Given the description of an element on the screen output the (x, y) to click on. 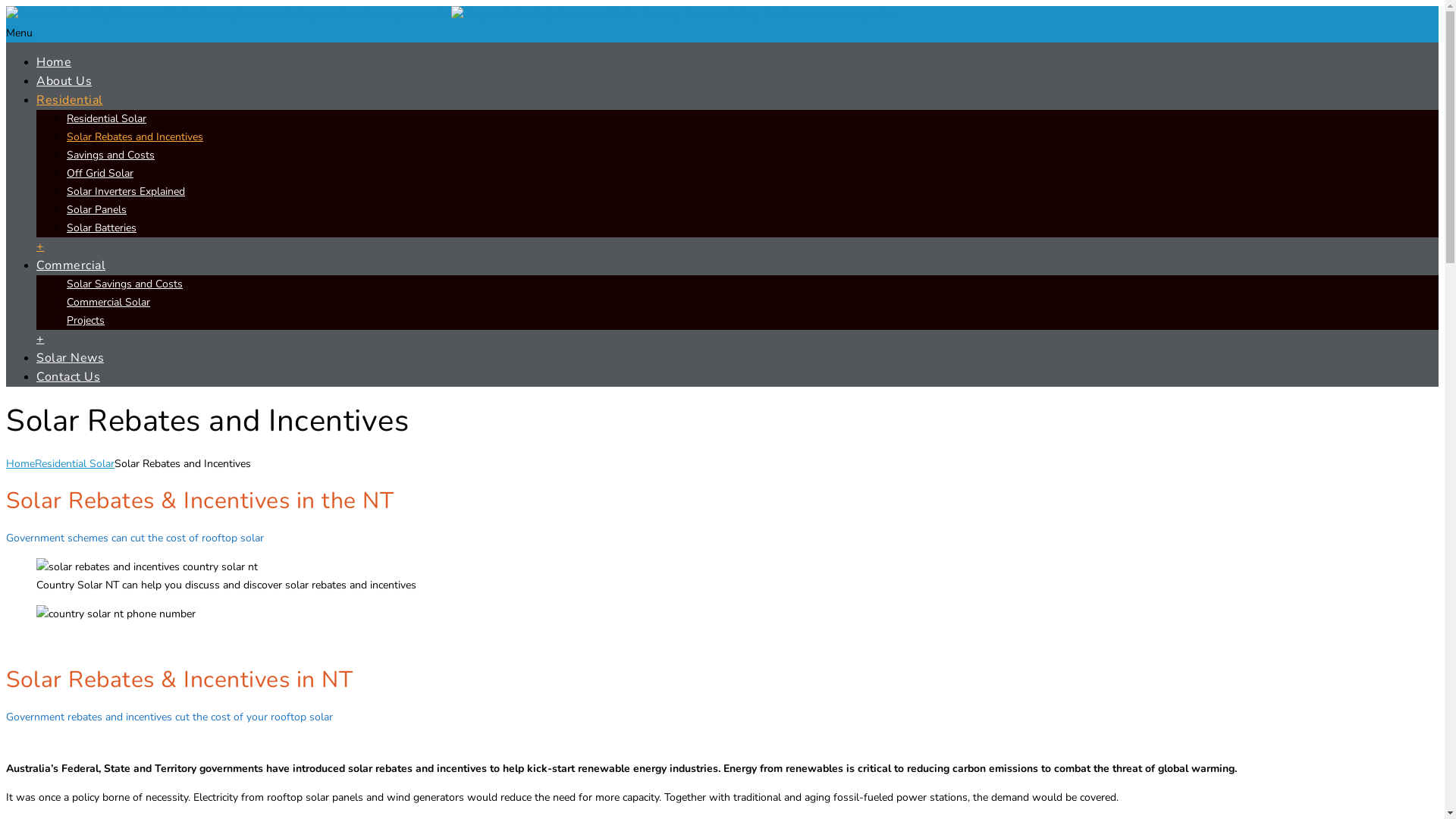
Solar Batteries Element type: text (101, 227)
+ Element type: text (40, 338)
Contact Us Element type: text (68, 376)
Off Grid Solar Element type: text (99, 173)
Home Element type: text (53, 61)
Commercial Element type: text (70, 265)
Residential Solar Element type: text (106, 118)
Solar Panels Element type: text (96, 209)
Solar News Element type: text (69, 357)
Residential Solar Element type: text (74, 463)
Commercial Solar Element type: text (108, 301)
Solar Rebates and Incentives Element type: text (134, 136)
Projects Element type: text (85, 320)
About Us Element type: text (63, 80)
Solar Inverters Explained Element type: text (125, 191)
Residential Element type: text (69, 99)
Solar Savings and Costs Element type: text (124, 283)
Savings and Costs Element type: text (110, 154)
Home Element type: text (20, 463)
+ Element type: text (40, 246)
